Given the description of an element on the screen output the (x, y) to click on. 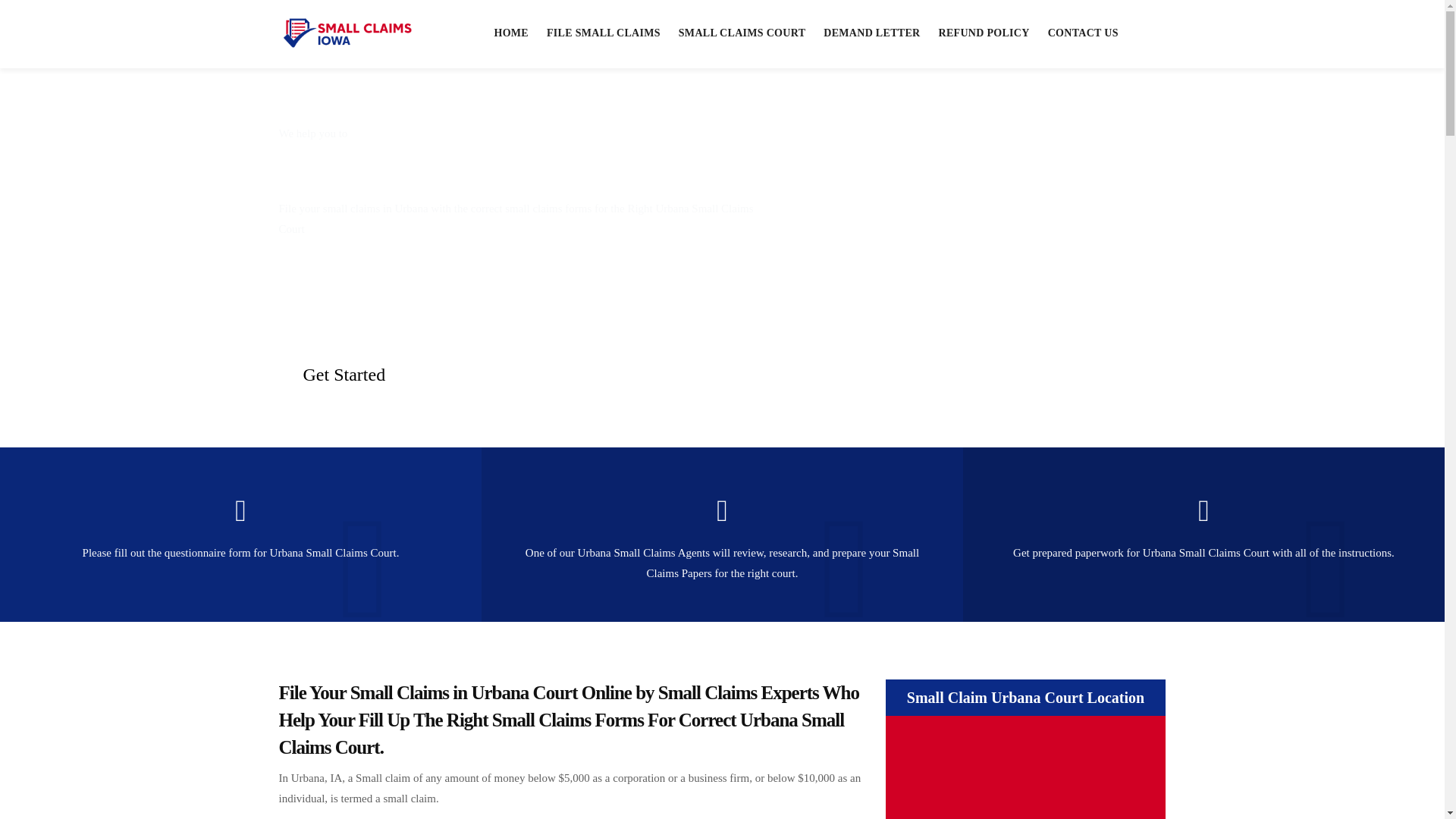
DEMAND LETTER (870, 33)
REFUND POLICY (983, 33)
SMALL CLAIMS COURT (742, 33)
CONTACT US (1082, 33)
FILE SMALL CLAIMS (603, 33)
Get Started (344, 374)
